Given the description of an element on the screen output the (x, y) to click on. 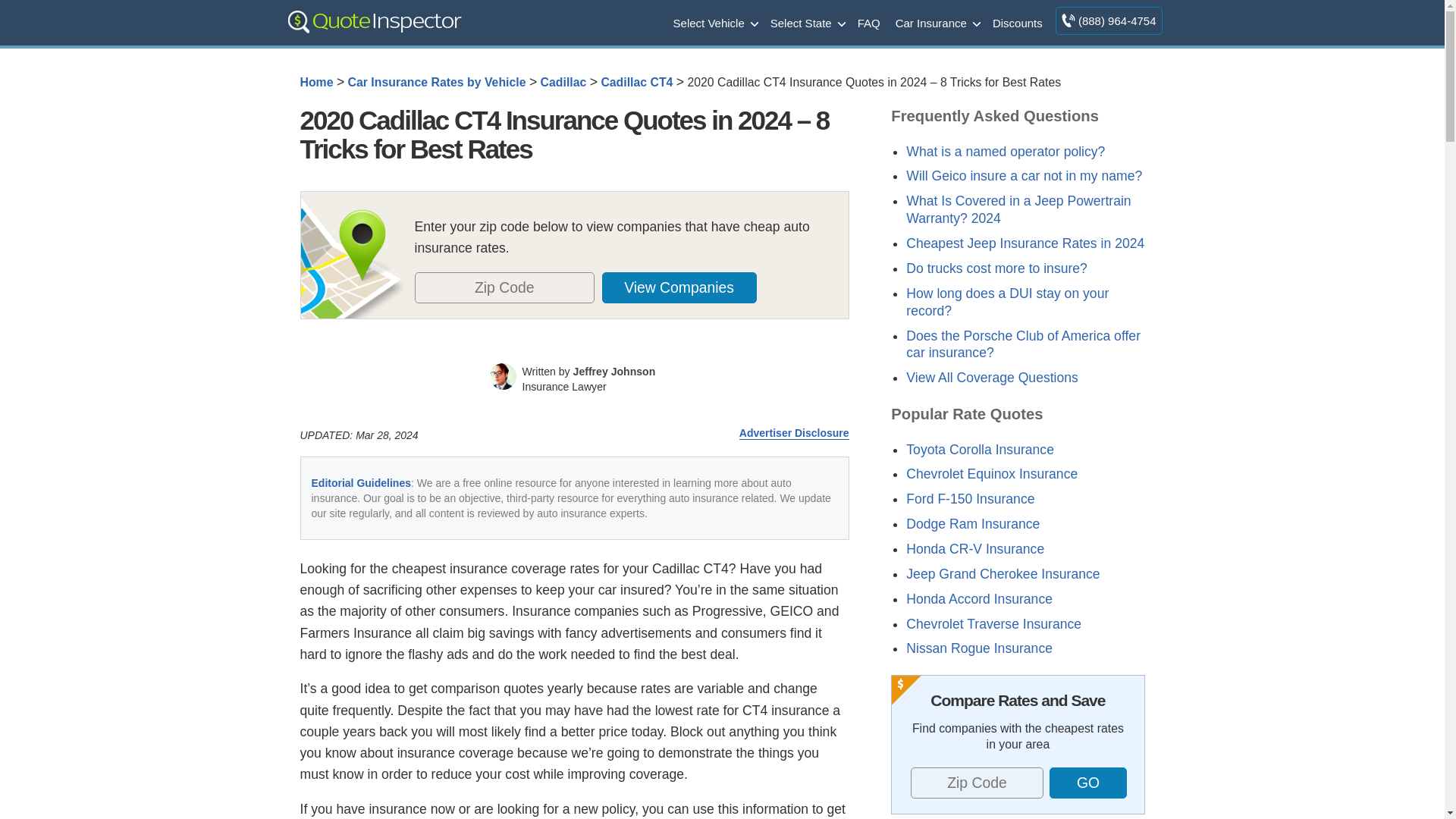
Cadillac (563, 82)
Tap to get your quotes! (1086, 782)
Zip Code must be filled out! (503, 287)
View Companies (679, 287)
Cadillac CT4 (635, 82)
Select State (806, 22)
Car Insurance Rates by Vehicle (436, 82)
Tap to get your quotes! (687, 287)
Select Vehicle (713, 22)
GO (1087, 782)
